Given the description of an element on the screen output the (x, y) to click on. 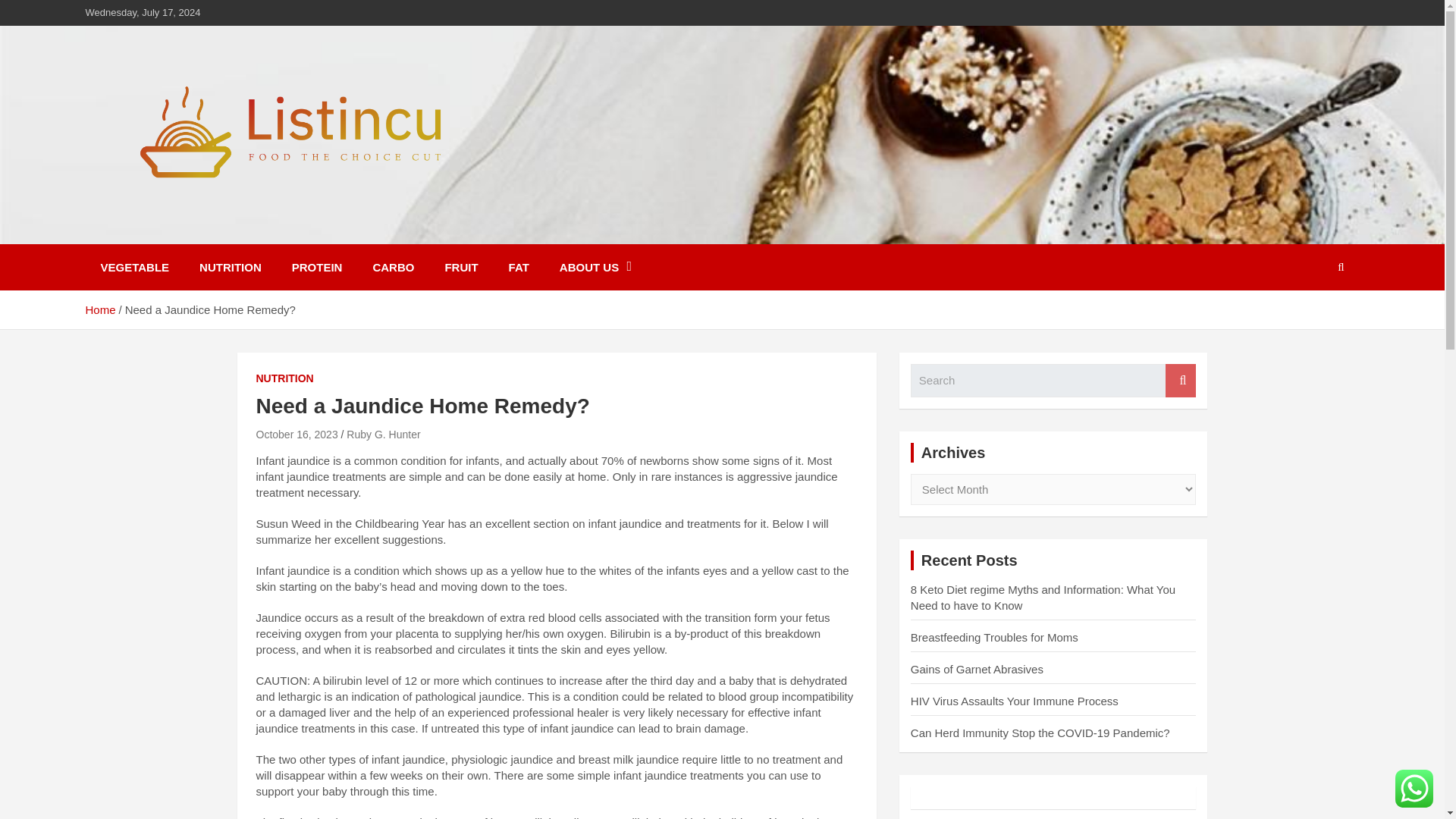
Breastfeeding Troubles for Moms (994, 636)
Gains of Garnet Abrasives (977, 668)
Listincu (142, 233)
FAT (518, 267)
HIV Virus Assaults Your Immune Process (1014, 700)
Can Herd Immunity Stop the COVID-19 Pandemic? (1040, 732)
October 16, 2023 (296, 434)
Home (99, 309)
Ruby G. Hunter (383, 434)
CARBO (392, 267)
NUTRITION (230, 267)
NUTRITION (285, 378)
VEGETABLE (134, 267)
ABOUT US (595, 267)
